Given the description of an element on the screen output the (x, y) to click on. 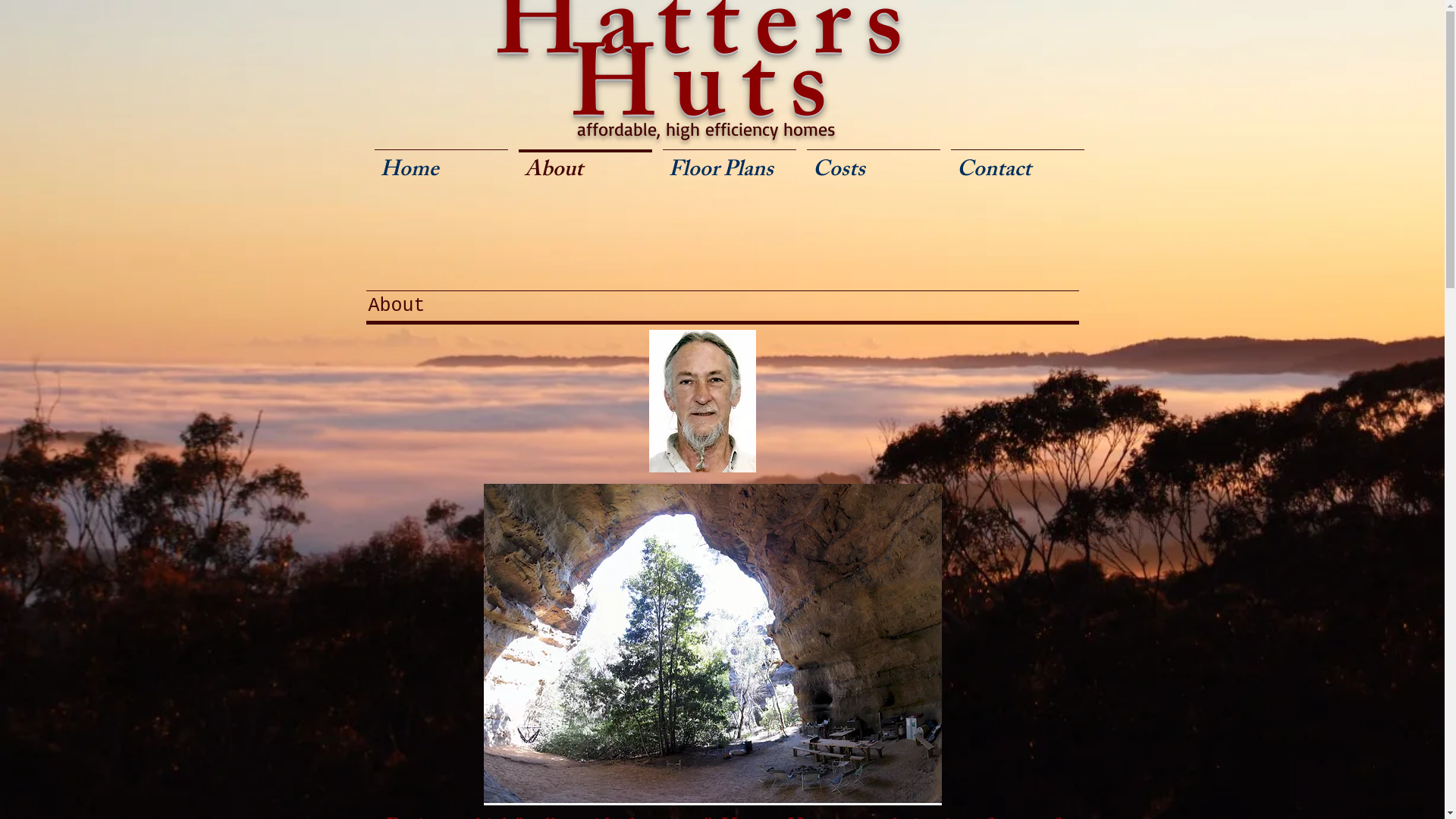
Hatters Cave Element type: hover (712, 644)
About Element type: text (584, 165)
Costs Element type: text (872, 165)
Huts Element type: text (706, 98)
Contact Element type: text (1016, 165)
MOCPic_edited.jpg Element type: hover (702, 400)
Floor Plans Element type: text (728, 165)
Home Element type: text (440, 165)
